Given the description of an element on the screen output the (x, y) to click on. 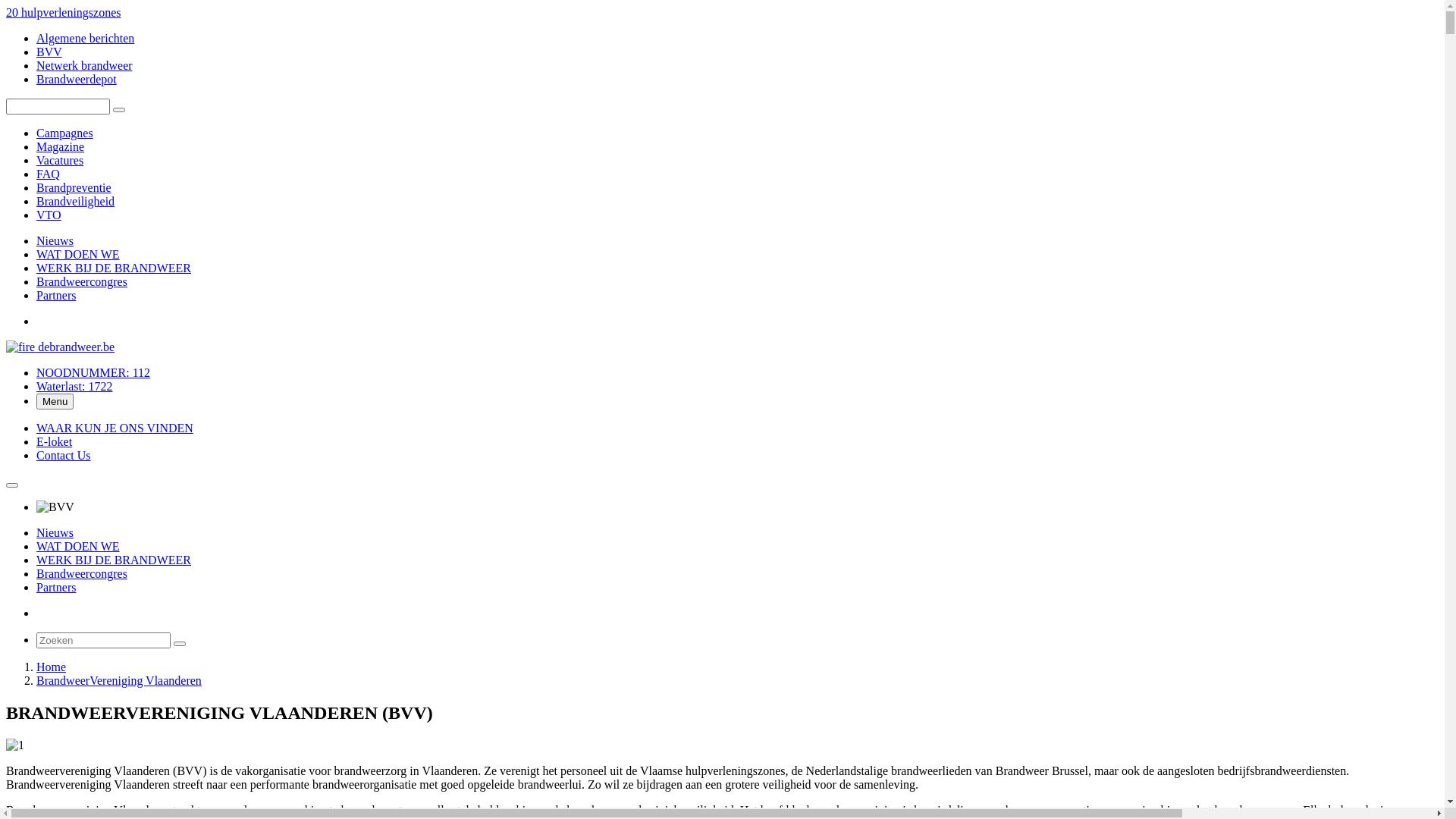
Vacatures Element type: text (59, 159)
BrandweerVereniging Vlaanderen Element type: text (118, 680)
debrandweer.be Element type: text (60, 346)
WAAR KUN JE ONS VINDEN Element type: text (114, 427)
Netwerk brandweer Element type: text (84, 65)
Campagnes Element type: text (64, 132)
Home Element type: text (50, 666)
Magazine Element type: text (60, 146)
Enter the terms you wish to search for. Element type: hover (57, 106)
E-loket Element type: text (54, 441)
Algemene berichten Element type: text (85, 37)
Brandweercongres Element type: text (81, 281)
Partners Element type: text (55, 294)
Nieuws Element type: text (54, 532)
Nieuws Element type: text (54, 240)
Zoeken Element type: text (118, 109)
WERK BIJ DE BRANDWEER Element type: text (113, 267)
WAT DOEN WE Element type: text (77, 545)
WAT DOEN WE Element type: text (77, 253)
Brandweercongres Element type: text (81, 573)
Brandpreventie Element type: text (73, 187)
Skip to main content Element type: text (6, 6)
VTO Element type: text (48, 214)
Partners Element type: text (55, 586)
WERK BIJ DE BRANDWEER Element type: text (113, 559)
Brandveiligheid Element type: text (75, 200)
Contact Us Element type: text (63, 454)
Menu Element type: text (54, 401)
Brandweerdepot Element type: text (76, 78)
FAQ Element type: text (47, 173)
BVV Element type: text (49, 51)
20 hulpverleningszones Element type: text (63, 12)
Waterlast: 1722 Element type: text (74, 385)
NOODNUMMER: 112 Element type: text (93, 372)
